Given the description of an element on the screen output the (x, y) to click on. 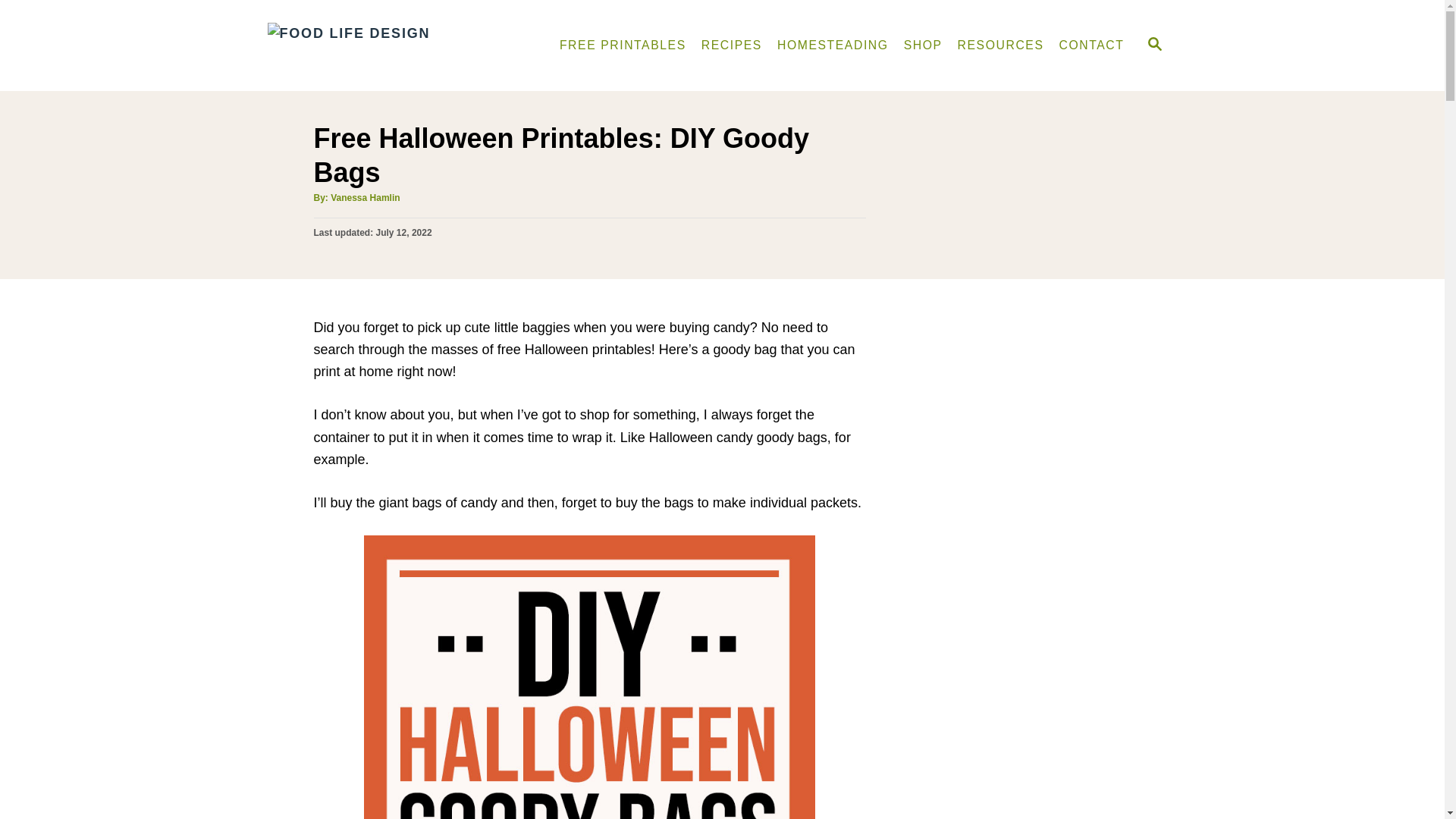
RESOURCES (1000, 45)
SEARCH (1153, 45)
CONTACT (1091, 45)
FREE PRINTABLES (622, 45)
RECIPES (732, 45)
Food Life Design (394, 45)
SHOP (923, 45)
HOMESTEADING (833, 45)
Vanessa Hamlin (364, 197)
